Given the description of an element on the screen output the (x, y) to click on. 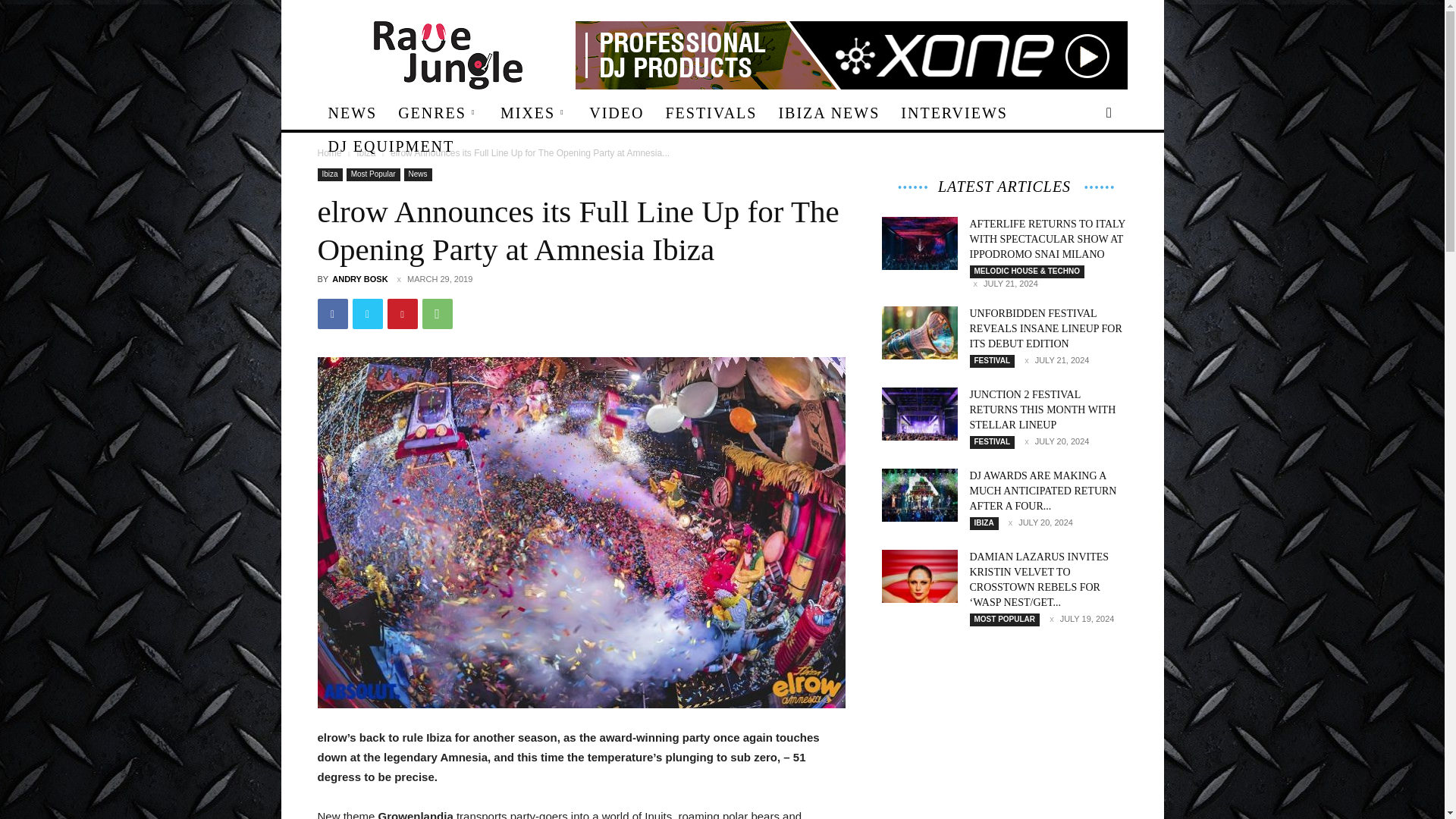
GENRES (438, 112)
NEWS (352, 112)
